Given the description of an element on the screen output the (x, y) to click on. 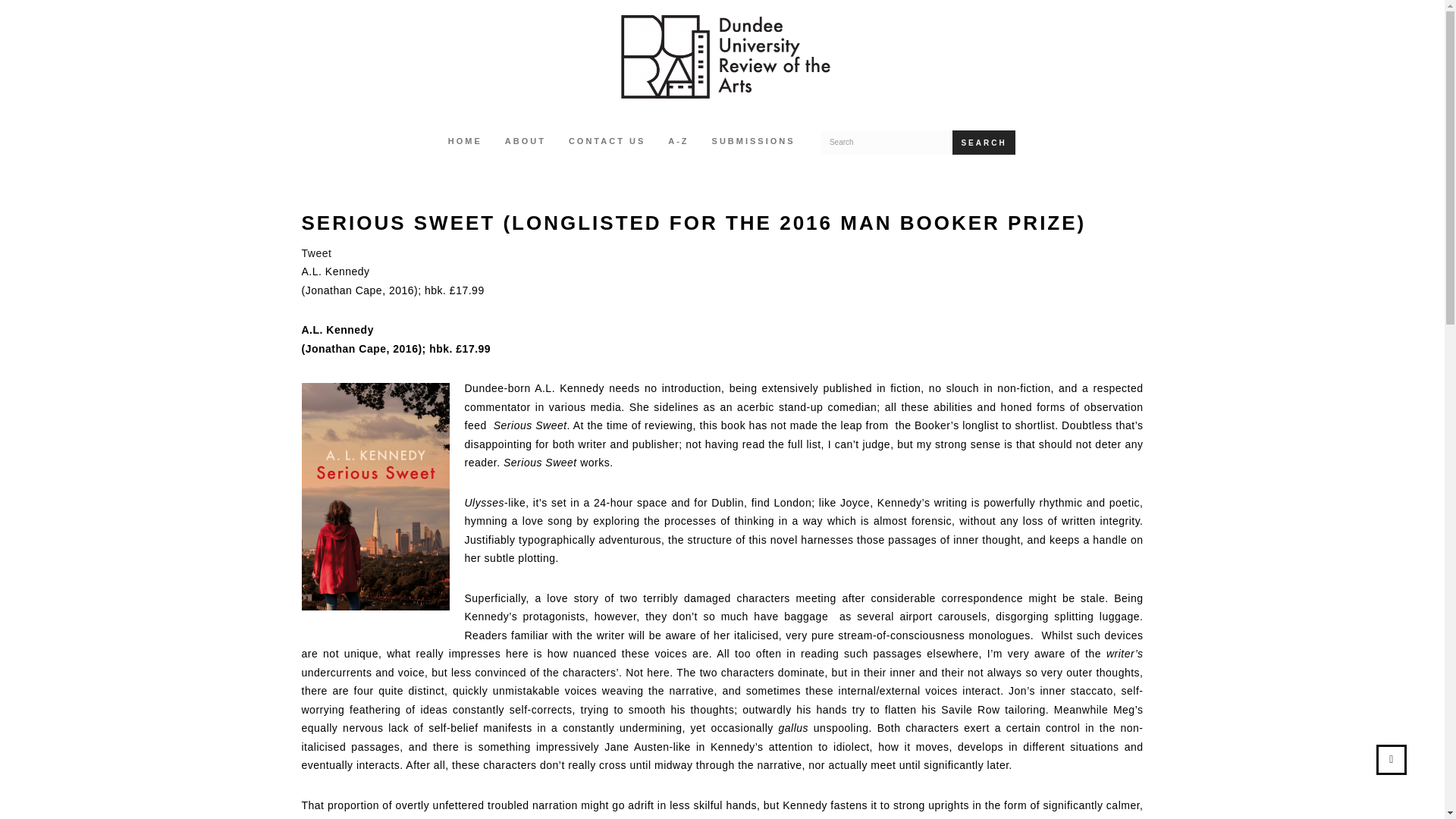
Tweet (316, 253)
A-Z (678, 142)
HOME (464, 142)
ABOUT (525, 142)
CONTACT US (606, 142)
SEARCH (983, 142)
SUBMISSIONS (753, 142)
